Given the description of an element on the screen output the (x, y) to click on. 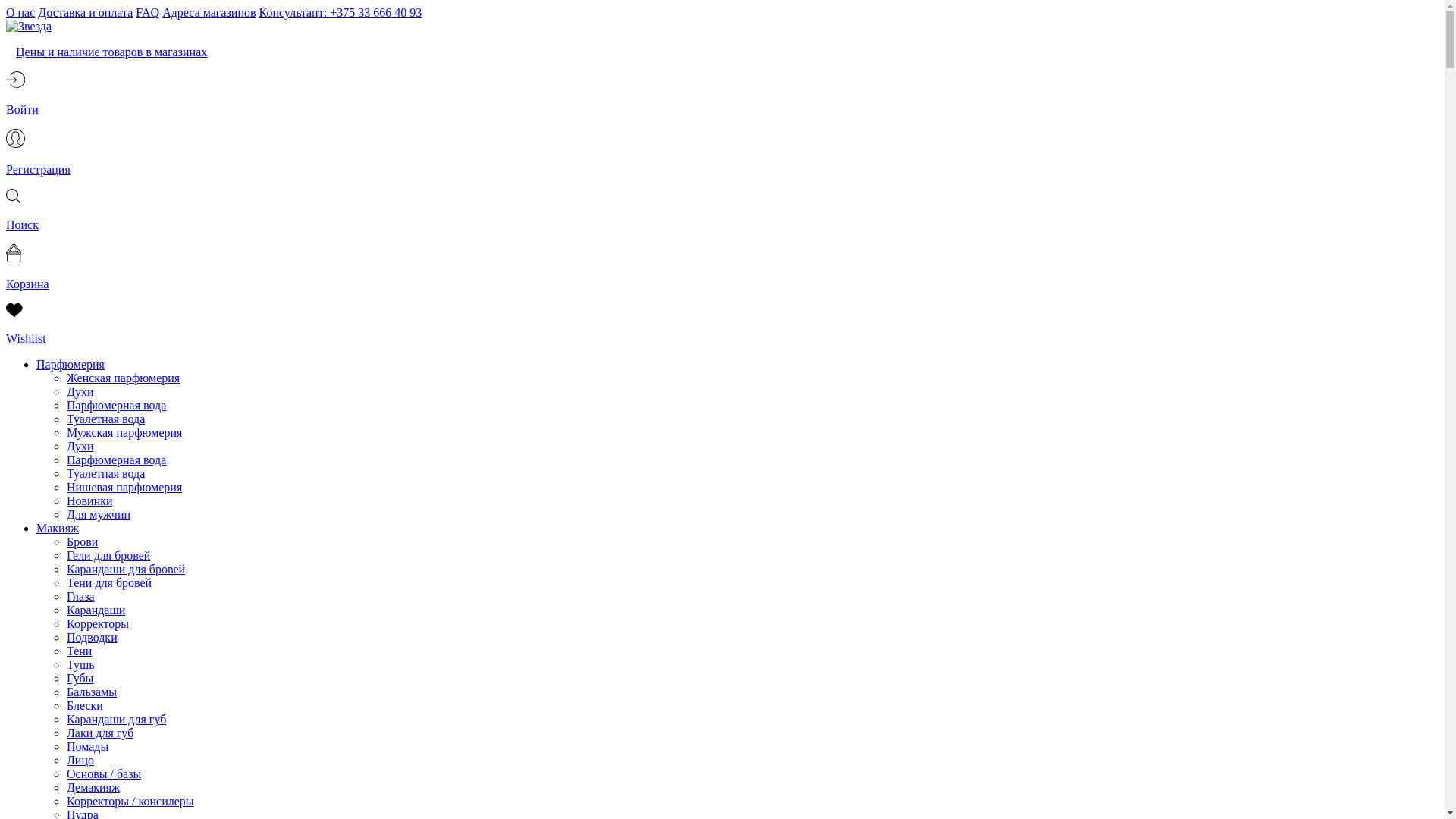
Wishlist Element type: text (722, 325)
FAQ Element type: text (147, 12)
